Given the description of an element on the screen output the (x, y) to click on. 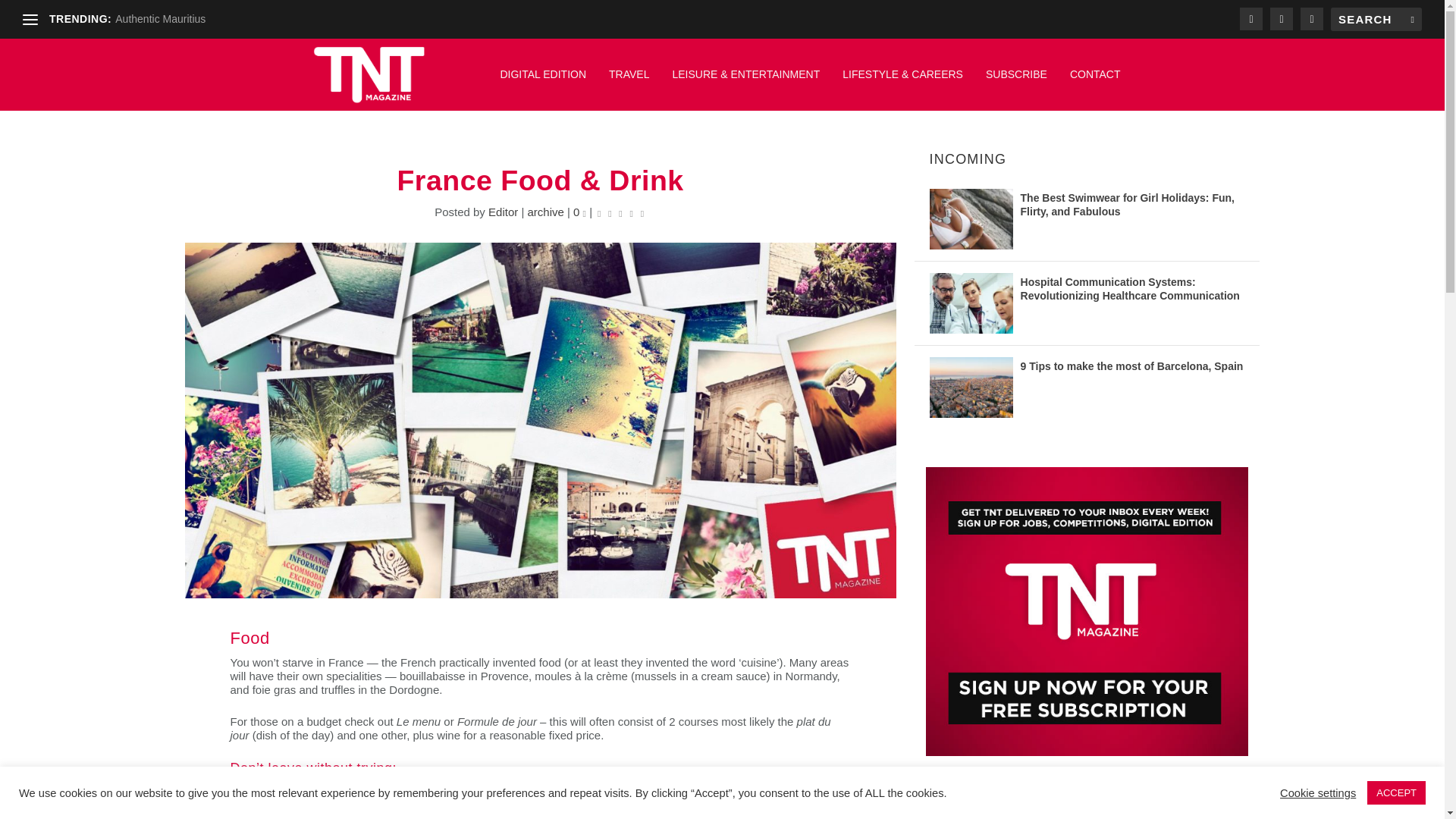
archive (545, 211)
Search for: (1376, 19)
Authentic Mauritius (160, 19)
Rating: 0.00 (620, 212)
0 (579, 211)
Posts by Editor (502, 211)
SUBSCRIBE (1015, 82)
DIGITAL EDITION (542, 82)
Editor (502, 211)
